Given the description of an element on the screen output the (x, y) to click on. 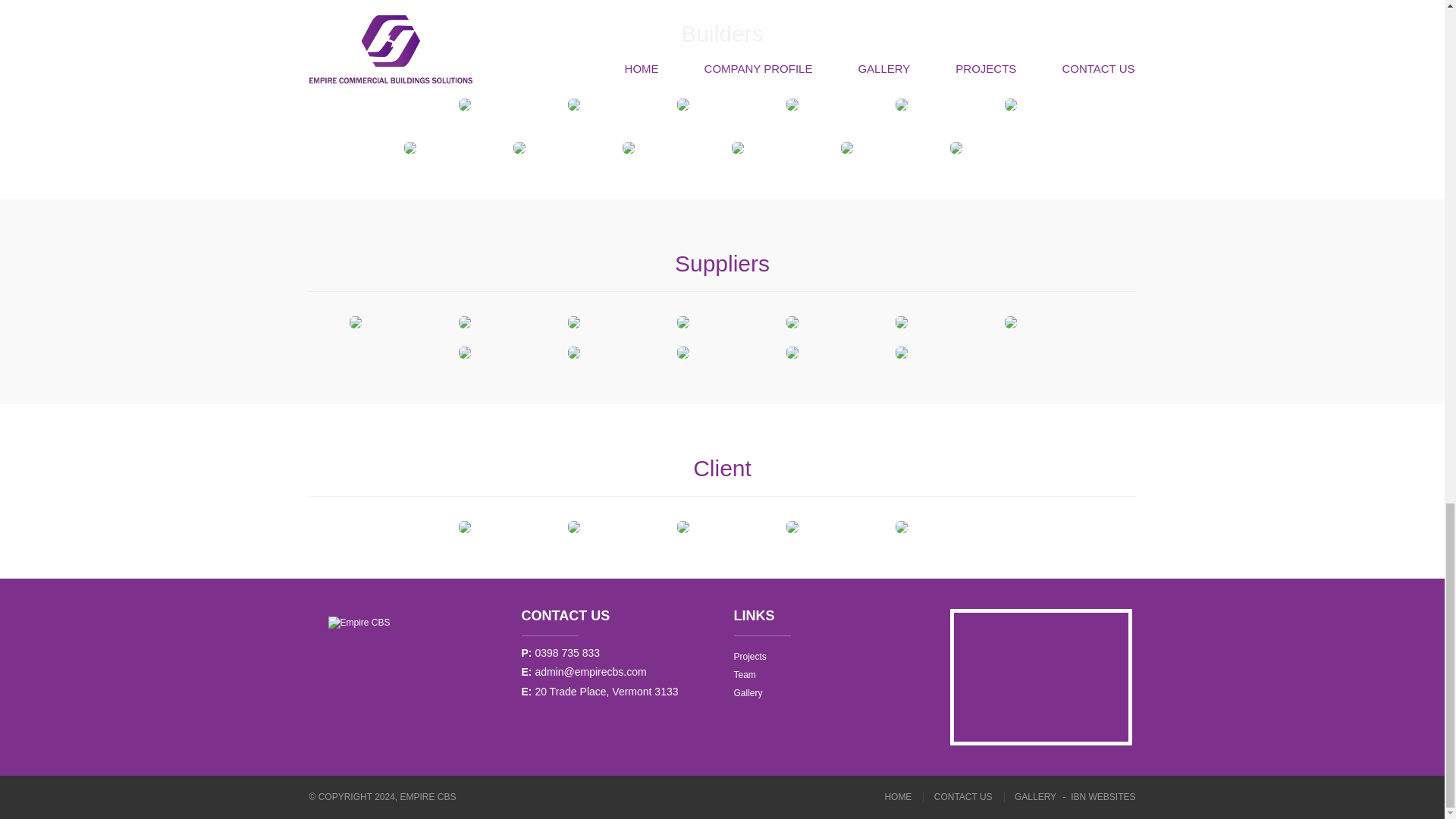
Team (750, 674)
HOME (903, 796)
Gallery (750, 692)
Projects (750, 656)
